Given the description of an element on the screen output the (x, y) to click on. 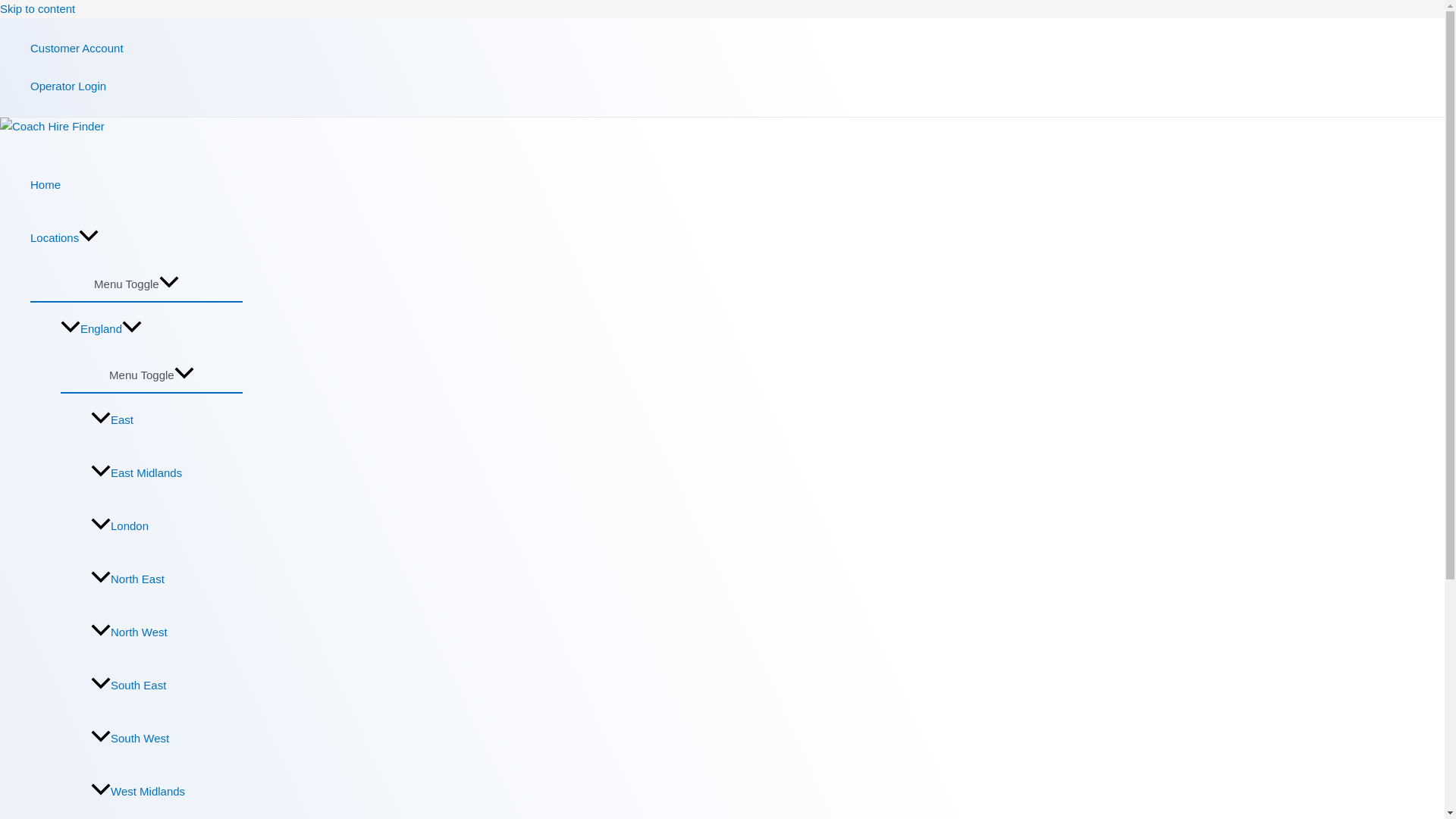
Menu Toggle (152, 373)
Customer Account (76, 48)
North East (166, 579)
Skip to content (37, 8)
East Midlands (166, 472)
Locations (136, 237)
Home (136, 184)
Skip to content (37, 8)
London (166, 525)
East (166, 419)
